Given the description of an element on the screen output the (x, y) to click on. 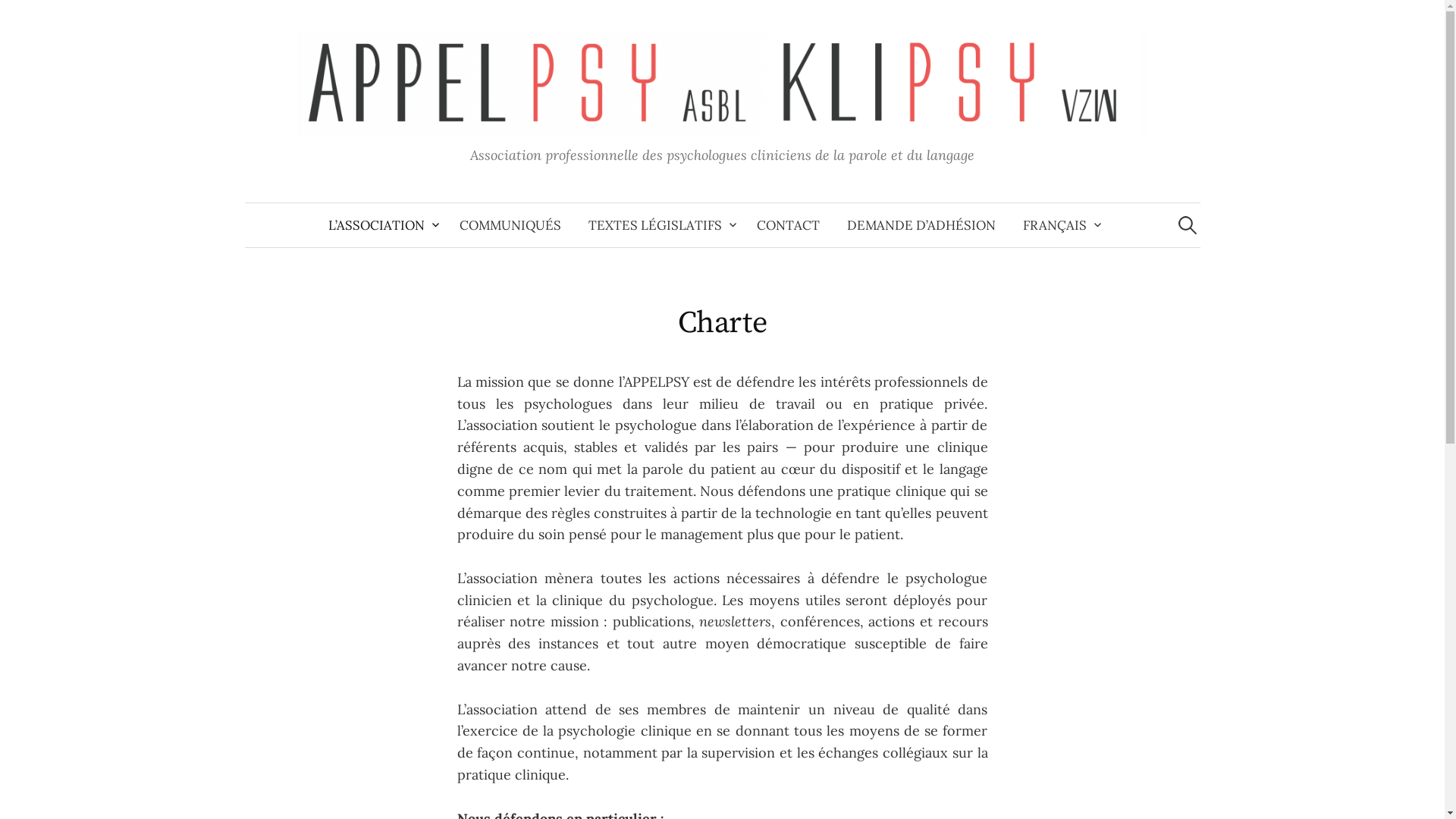
CONTACT Element type: text (788, 225)
Rechercher Element type: text (18, 18)
